Given the description of an element on the screen output the (x, y) to click on. 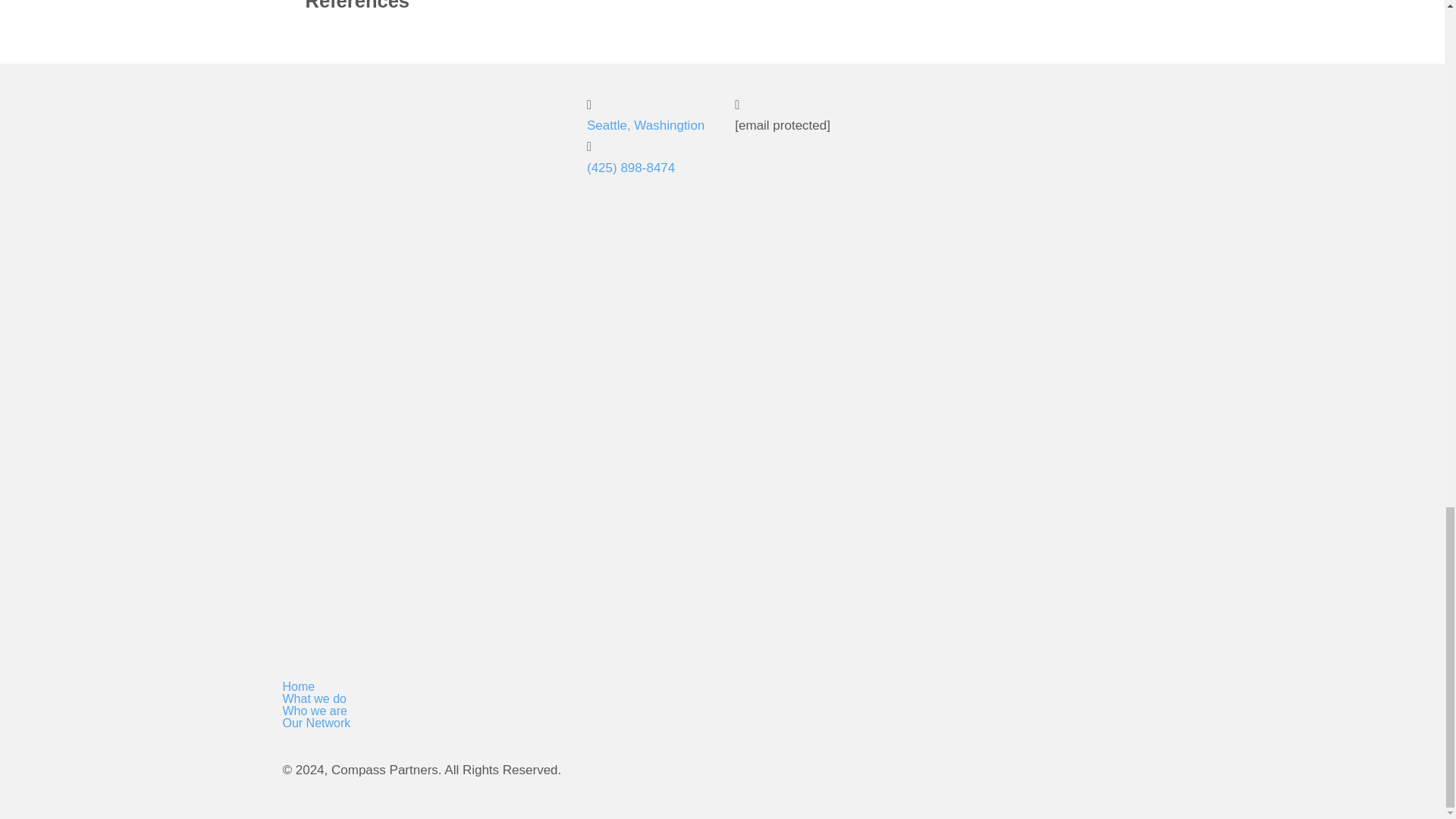
Seattle, Washingtion (645, 124)
What we do (421, 698)
Our Network (421, 723)
Who we are (421, 711)
Home (421, 686)
